Given the description of an element on the screen output the (x, y) to click on. 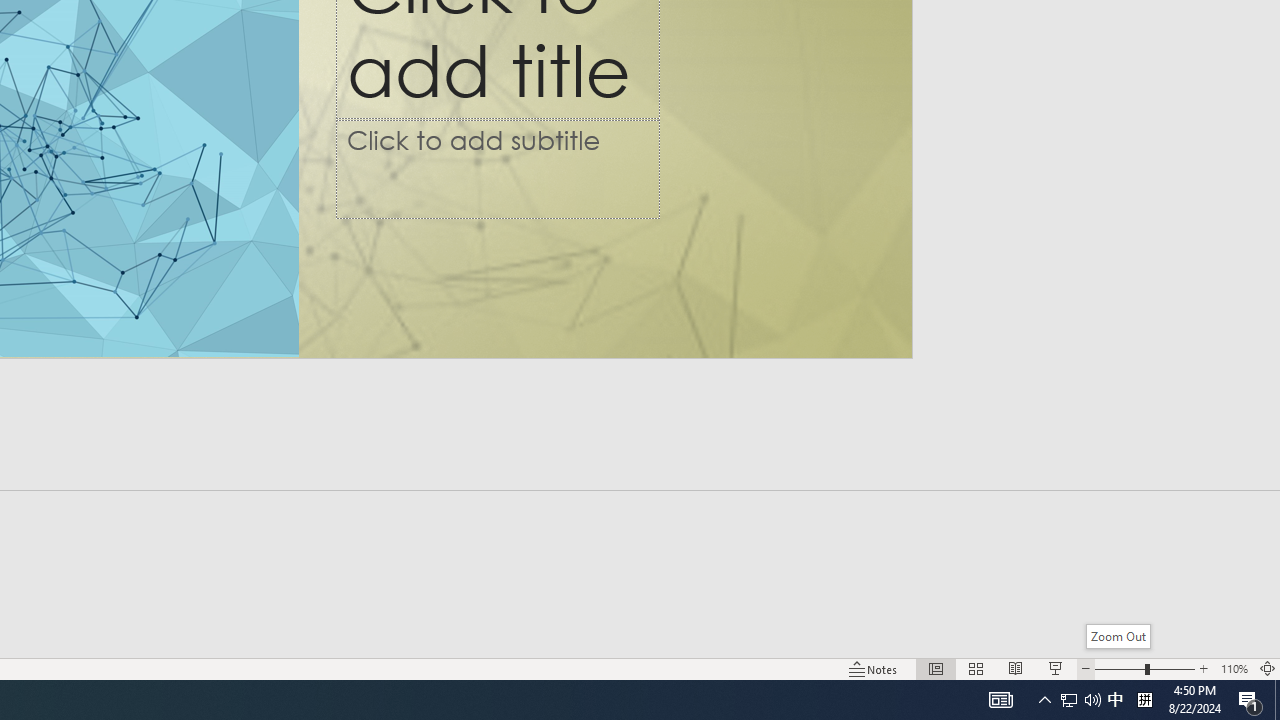
Zoom 110% (1234, 668)
